Given the description of an element on the screen output the (x, y) to click on. 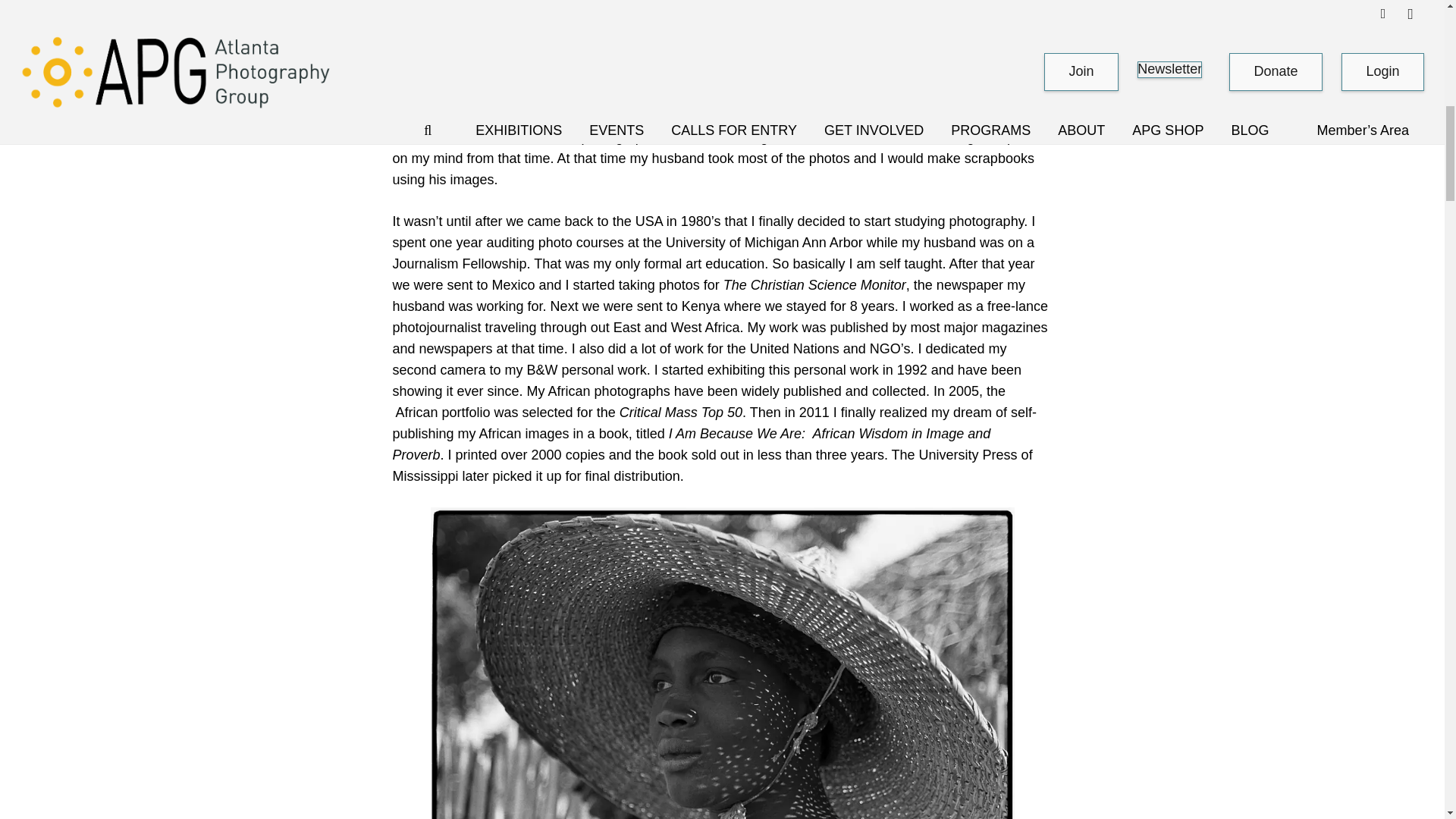
Back to top (1413, 26)
